Given the description of an element on the screen output the (x, y) to click on. 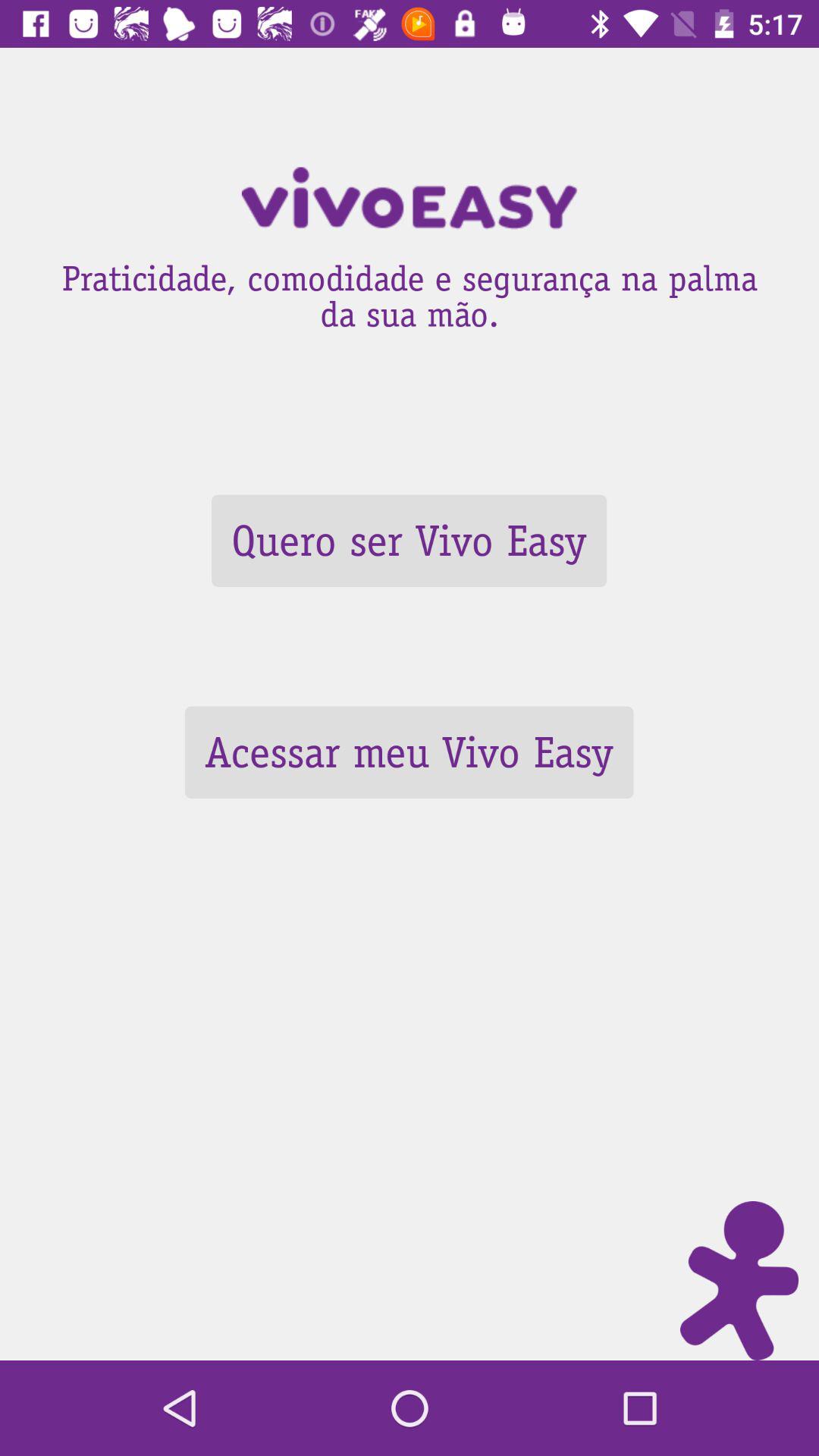
click the quero ser vivo item (408, 540)
